Given the description of an element on the screen output the (x, y) to click on. 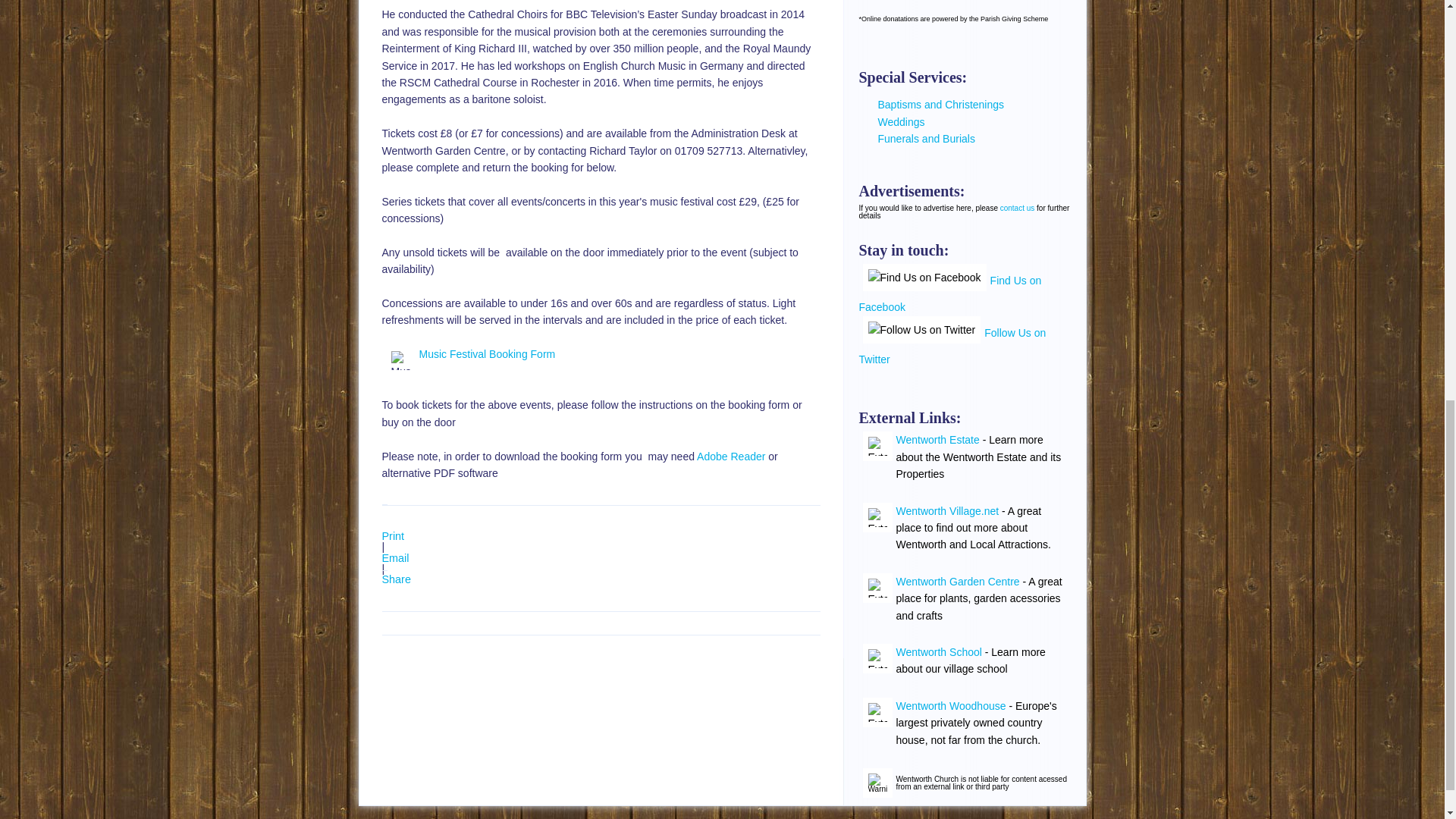
Wentworth Village (877, 587)
Find Us on Facebook (925, 277)
Follow Us on Twitter (922, 329)
Wentworth Village (877, 517)
Weddings (900, 121)
Baptisms and Christenings (940, 104)
Email (395, 558)
contact us (1017, 207)
Wentworth Woodhouse (951, 705)
Wentworth Woodhouse (877, 712)
Music Festival Booking Form (486, 354)
Wentworth Village.net (947, 510)
Share (395, 579)
Print (392, 535)
Follow Us on Twitter (952, 346)
